Given the description of an element on the screen output the (x, y) to click on. 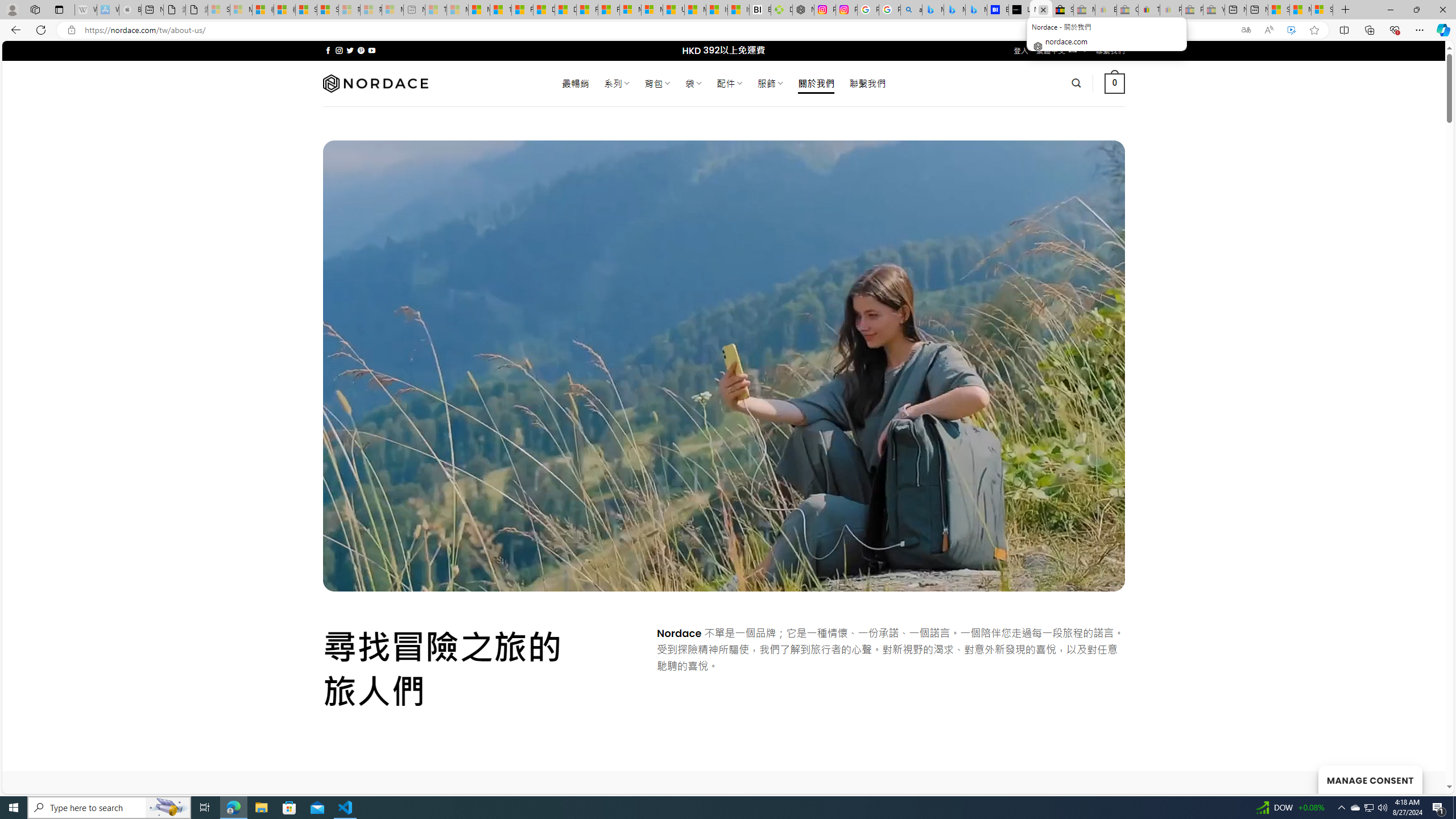
Press Room - eBay Inc. - Sleeping (1192, 9)
Sign in to your Microsoft account - Sleeping (218, 9)
Selling on eBay | Electronics, Fashion, Home & Garden | eBay (1062, 9)
Enhance video (1291, 29)
Microsoft Bing Travel - Flights from Hong Kong to Bangkok (933, 9)
Top Stories - MSN - Sleeping (435, 9)
Foo BAR | Trusted Community Engagement and Contributions (608, 9)
